Given the description of an element on the screen output the (x, y) to click on. 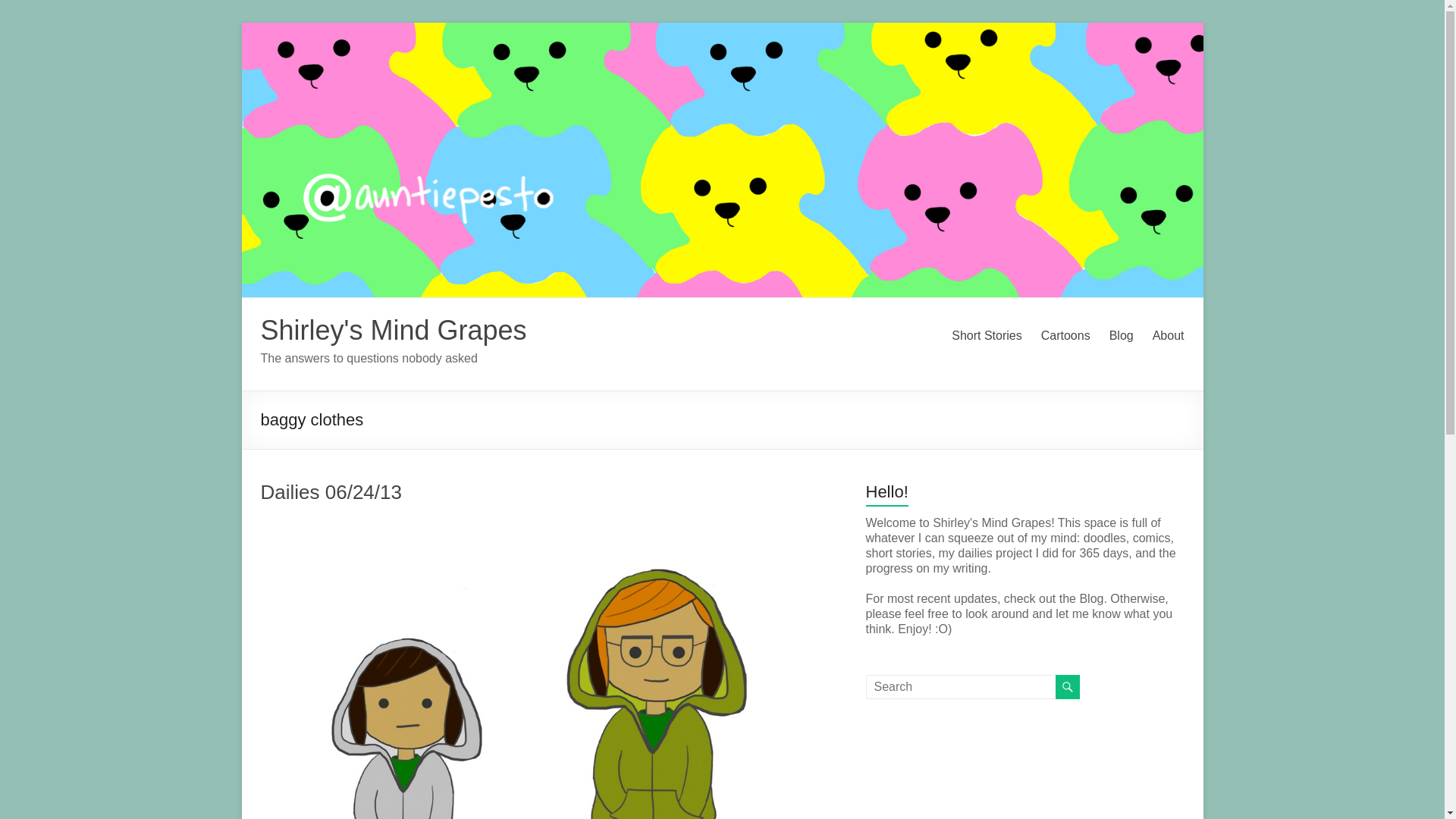
Shirley's Mind Grapes (393, 329)
Blog (1121, 335)
Short Stories (987, 335)
Cartoons (1065, 335)
Shirley's Mind Grapes (393, 329)
About (1169, 335)
